Given the description of an element on the screen output the (x, y) to click on. 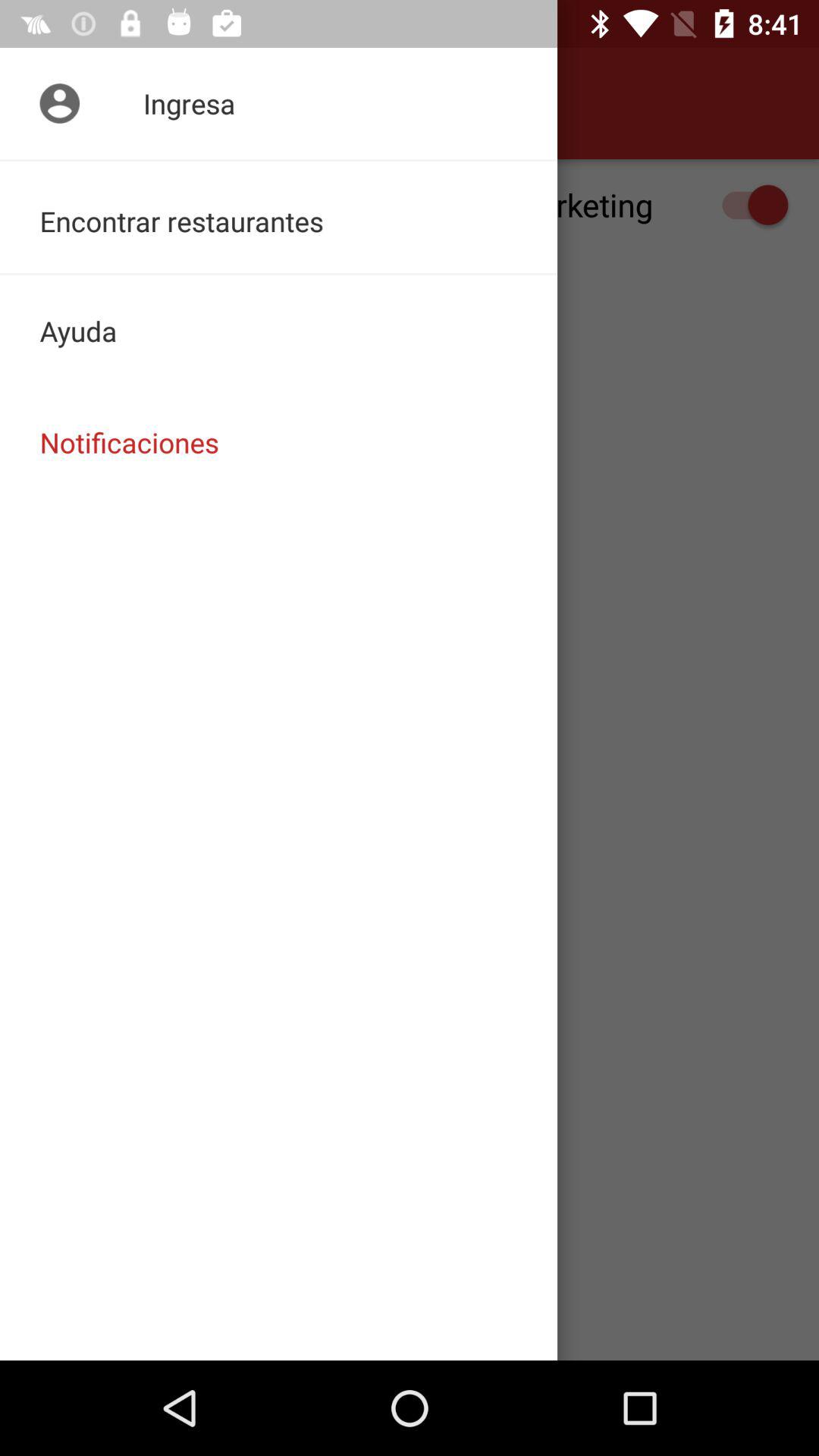
scroll until recibir notificaciones de item (409, 204)
